Given the description of an element on the screen output the (x, y) to click on. 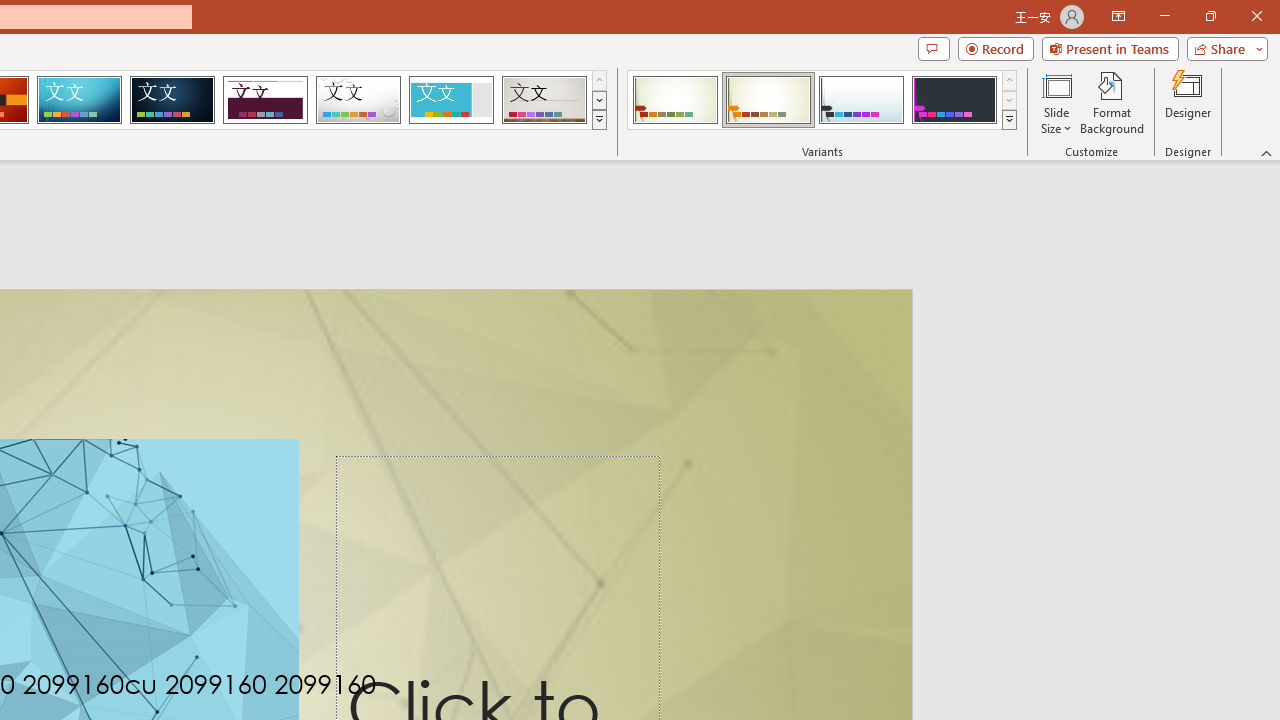
Wisp Variant 1 (674, 100)
Wisp Variant 4 (953, 100)
Wisp Variant 2 (768, 100)
Dividend Loading Preview... (265, 100)
Frame Loading Preview... (450, 100)
Gallery Loading Preview... (544, 100)
Droplet Loading Preview... (358, 100)
Format Background (1111, 102)
